Given the description of an element on the screen output the (x, y) to click on. 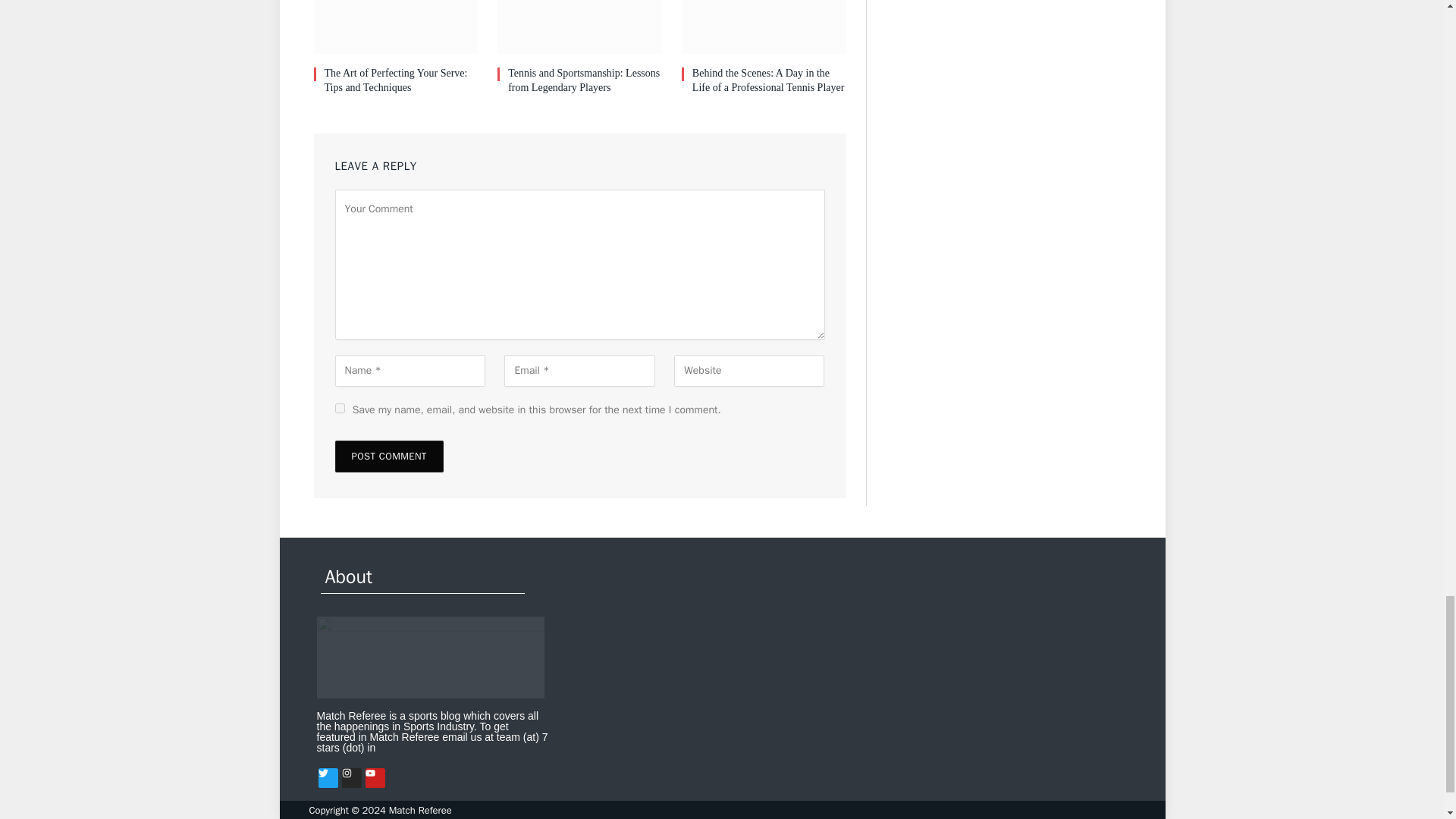
The Art of Perfecting Your Serve: Tips and Techniques (396, 27)
yes (339, 408)
Post Comment (389, 456)
Tennis and Sportsmanship: Lessons from Legendary Players (579, 27)
